Given the description of an element on the screen output the (x, y) to click on. 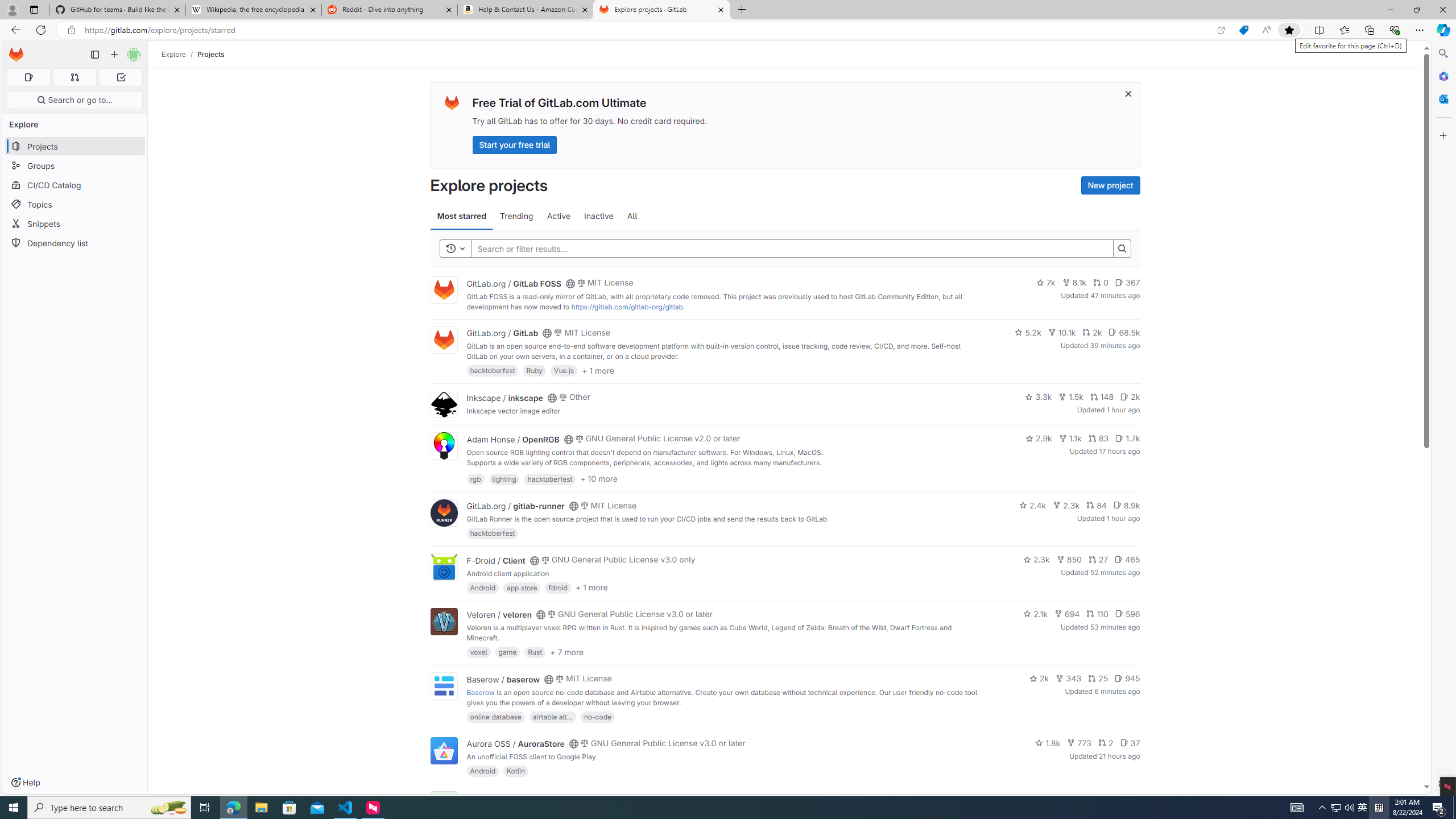
Groups (74, 165)
Rust (535, 651)
app store (521, 587)
465 (1127, 559)
Toggle history (455, 248)
37 (1129, 742)
Vue.js (563, 370)
All (632, 216)
+ 1 more (591, 587)
7k (1045, 282)
850 (1068, 559)
Inactive (598, 216)
To-Do list 0 (120, 76)
